Given the description of an element on the screen output the (x, y) to click on. 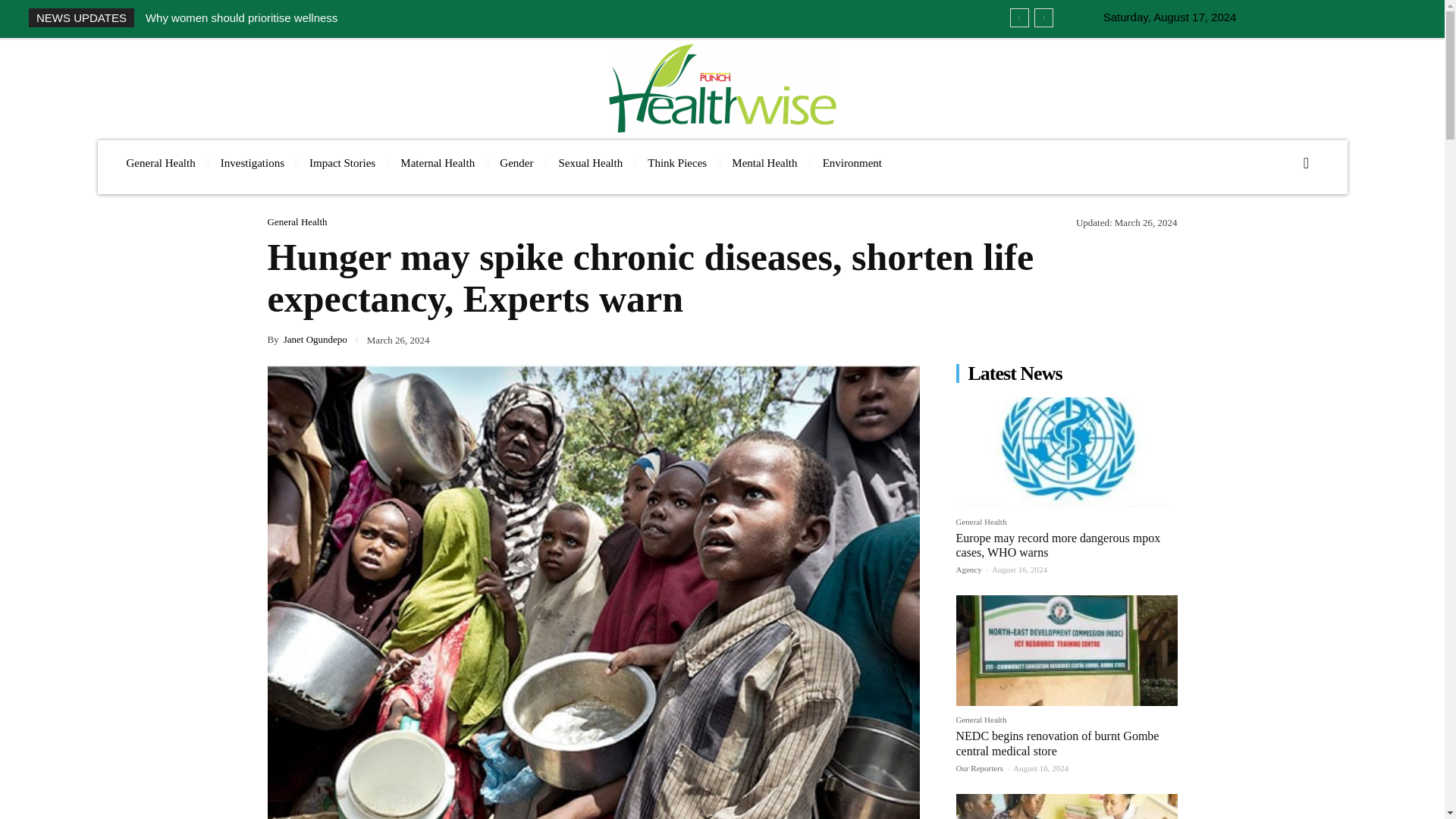
General Health (160, 163)
Why women should prioritise wellness (241, 17)
Investigations (252, 163)
Why women should prioritise wellness (241, 17)
